Given the description of an element on the screen output the (x, y) to click on. 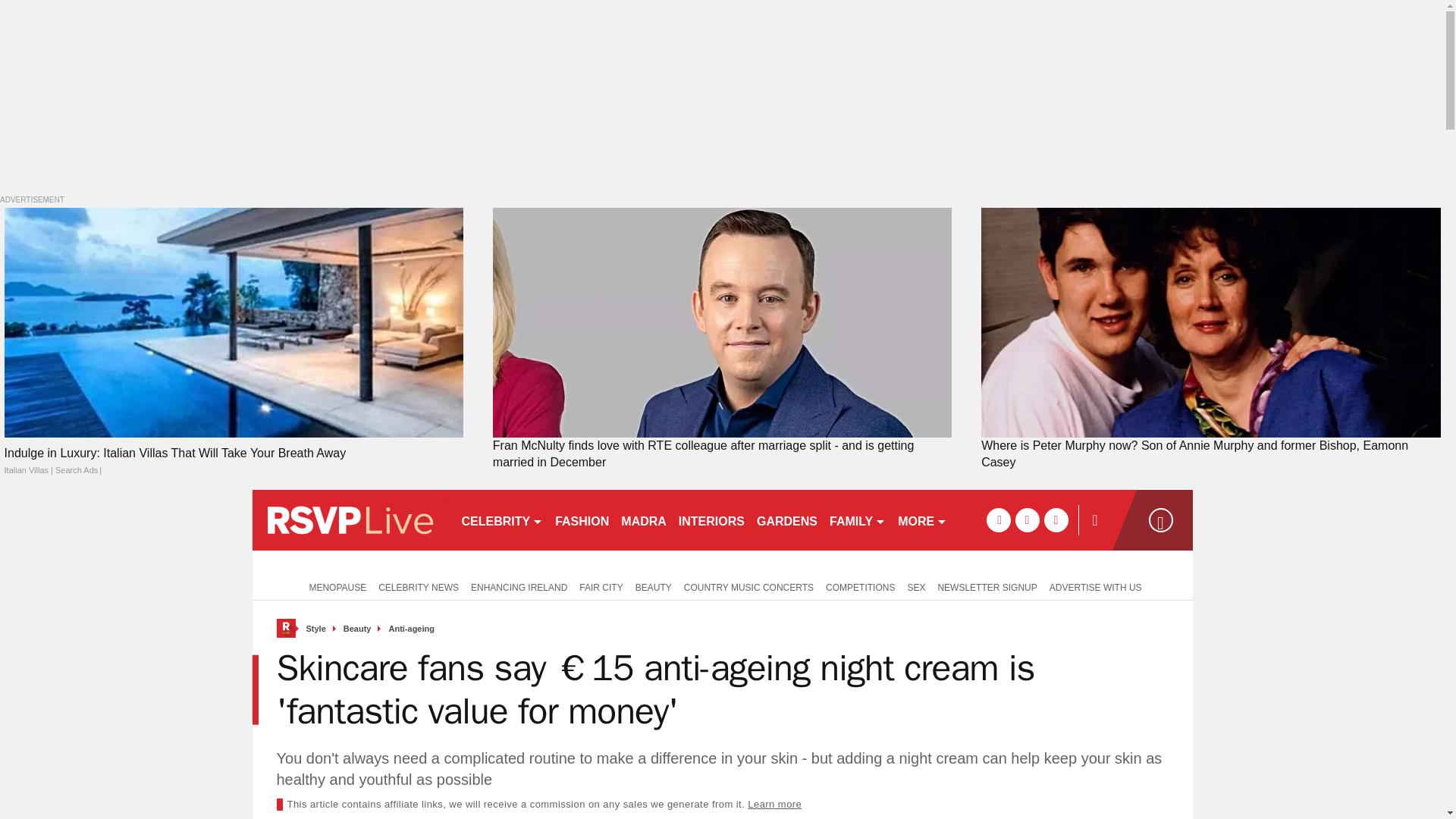
FASHION (581, 519)
INTERIORS (711, 519)
CELEBRITY (501, 519)
facebook (997, 519)
MORE (922, 519)
FAMILY (857, 519)
GARDENS (787, 519)
instagram (1055, 519)
MADRA (643, 519)
